Given the description of an element on the screen output the (x, y) to click on. 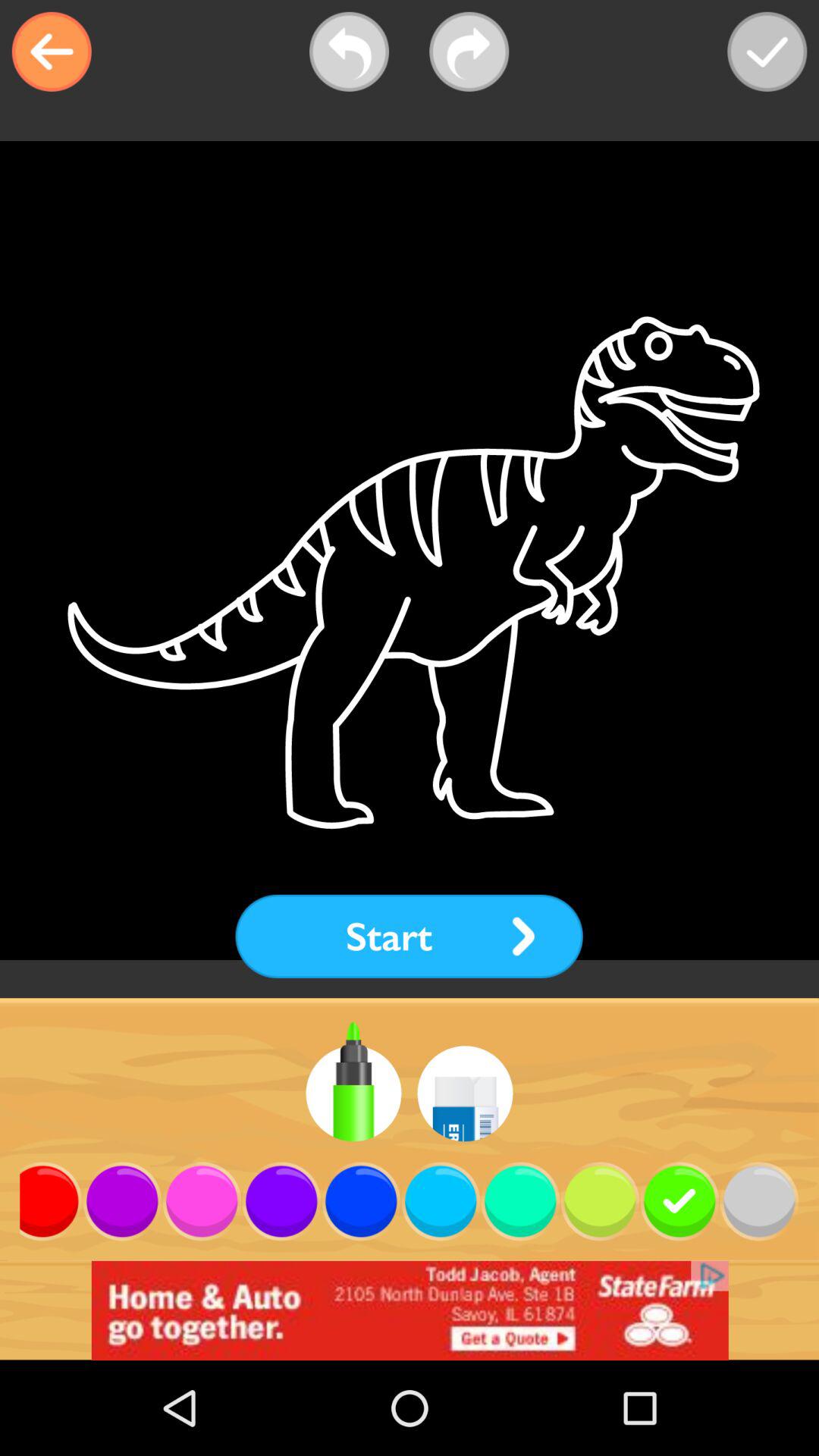
shows tick icon (767, 51)
